Given the description of an element on the screen output the (x, y) to click on. 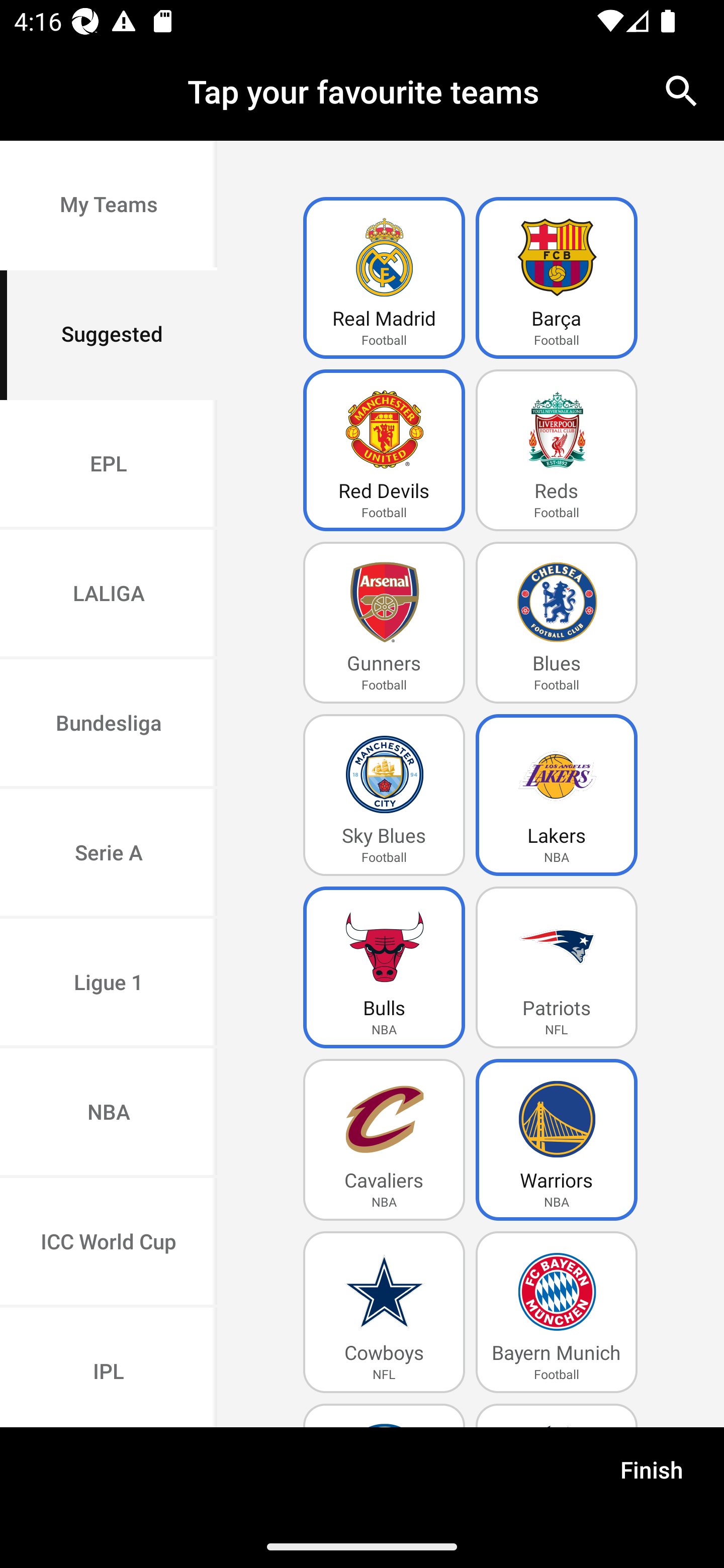
search (681, 90)
My Teams (108, 206)
Real Madrid Real MadridSelected Football (383, 278)
Barça BarçaSelected Football (556, 278)
Suggested (108, 334)
Red Devils Red DevilsSelected Football (383, 450)
Reds Reds Football (556, 450)
EPL (108, 464)
LALIGA (108, 594)
Gunners Gunners Football (383, 623)
Blues Blues Football (556, 623)
Bundesliga (108, 725)
Sky Blues Sky Blues Football (383, 794)
Lakers LakersSelected NBA (556, 794)
Serie A (108, 853)
Bulls BullsSelected NBA (383, 966)
Patriots Patriots NFL (556, 966)
Ligue 1 (108, 983)
NBA (108, 1113)
Cavaliers Cavaliers NBA (383, 1139)
Warriors WarriorsSelected NBA (556, 1139)
ICC World Cup (108, 1242)
Cowboys Cowboys NFL (383, 1311)
Bayern Munich Bayern Munich Football (556, 1311)
IPL (108, 1366)
Finish Finish and Close (651, 1475)
